Given the description of an element on the screen output the (x, y) to click on. 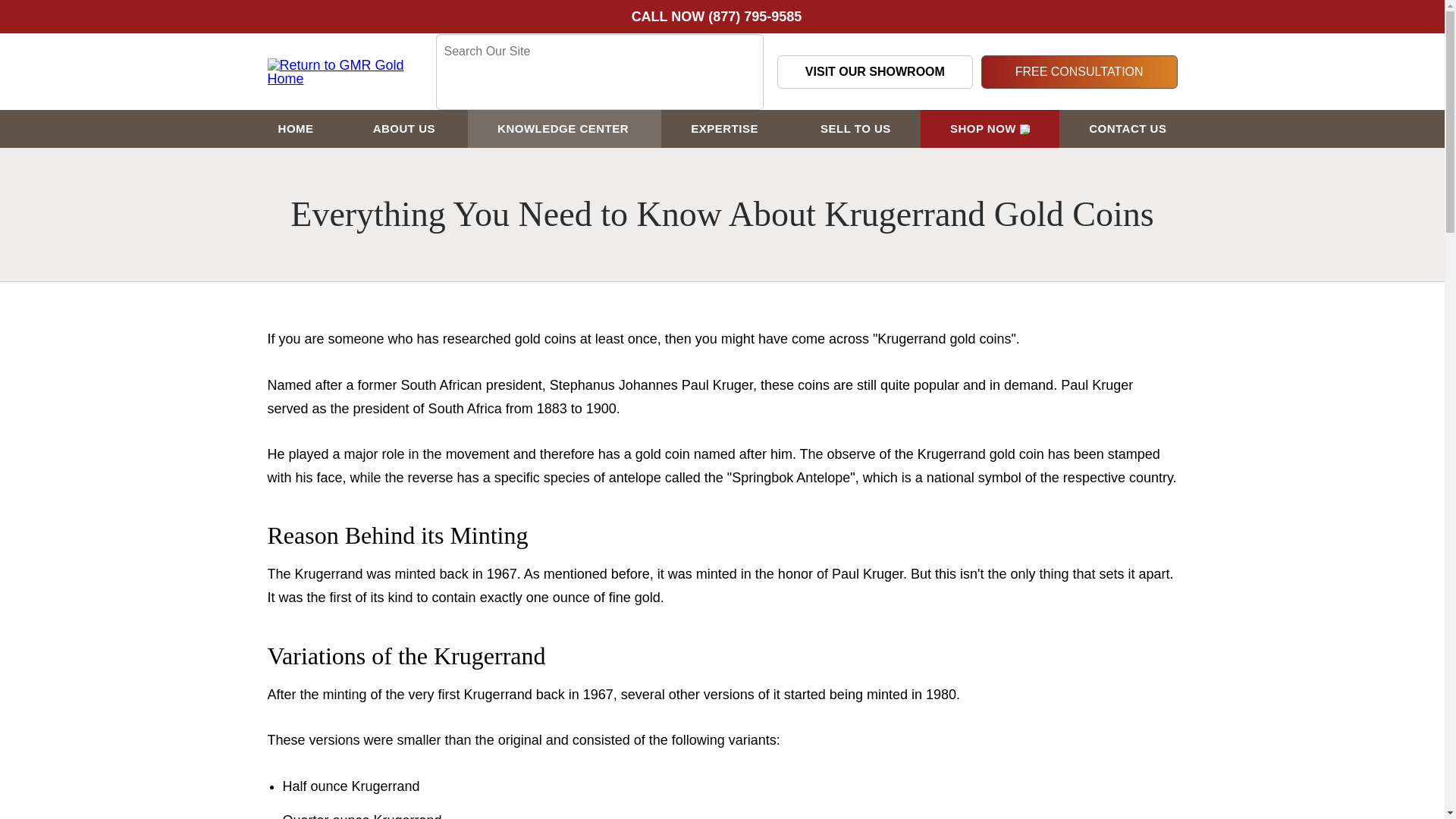
KNOWLEDGE CENTER (564, 128)
ABOUT US (405, 128)
FREE CONSULTATION (1079, 71)
SELL TO US (855, 128)
SHOP NOW (989, 128)
EXPERTISE (725, 128)
Search (451, 84)
HOME (295, 128)
CONTACT US (1127, 128)
VISIT OUR SHOWROOM (874, 71)
